Given the description of an element on the screen output the (x, y) to click on. 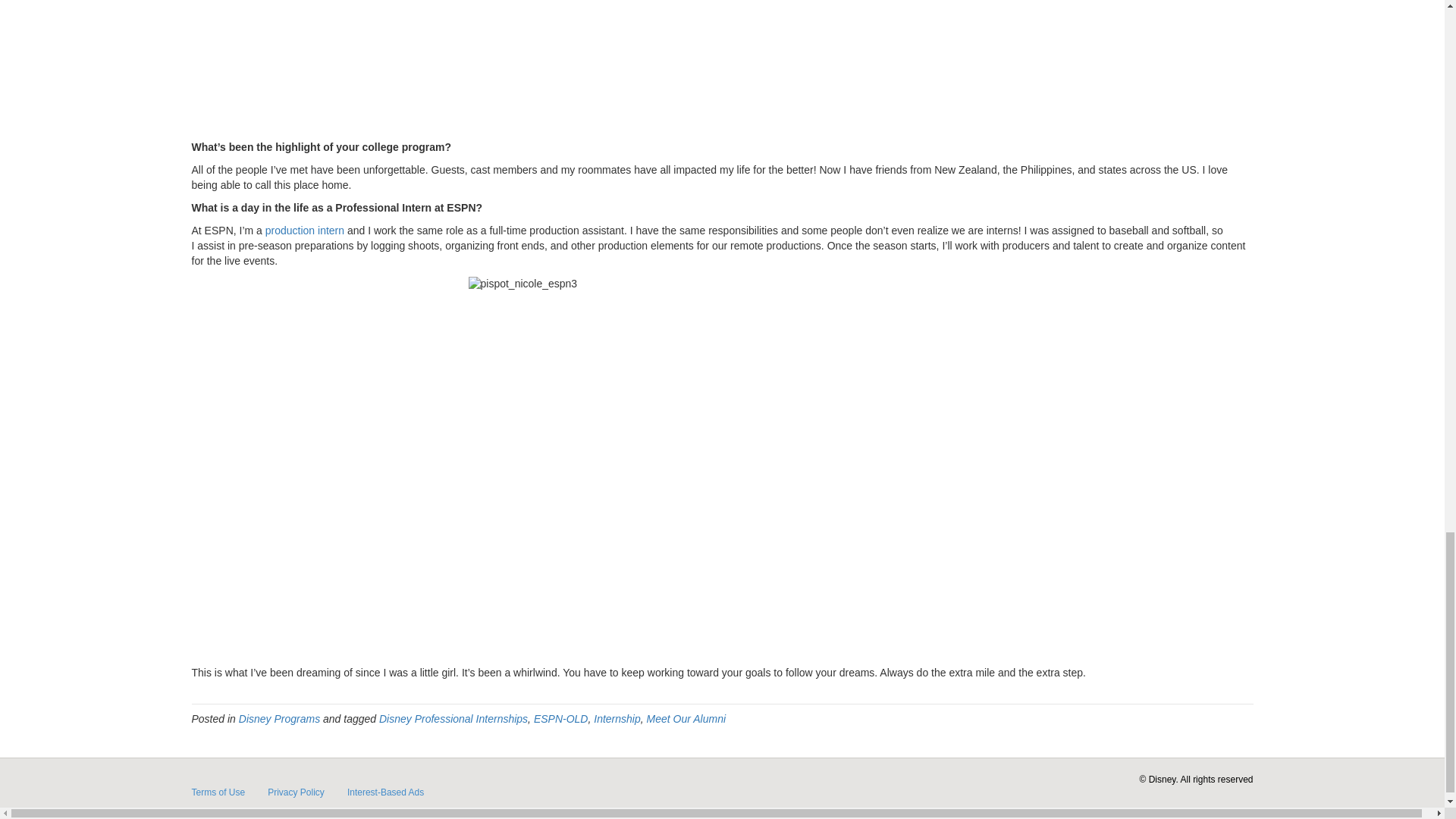
Disney Programs (279, 718)
ESPN-OLD (561, 718)
Internship (617, 718)
Meet Our Alumni (686, 718)
Disney Professional Internships (452, 718)
Interest-Based Ads (385, 792)
production intern (303, 230)
Privacy Policy (296, 792)
Terms of Use (218, 792)
